Given the description of an element on the screen output the (x, y) to click on. 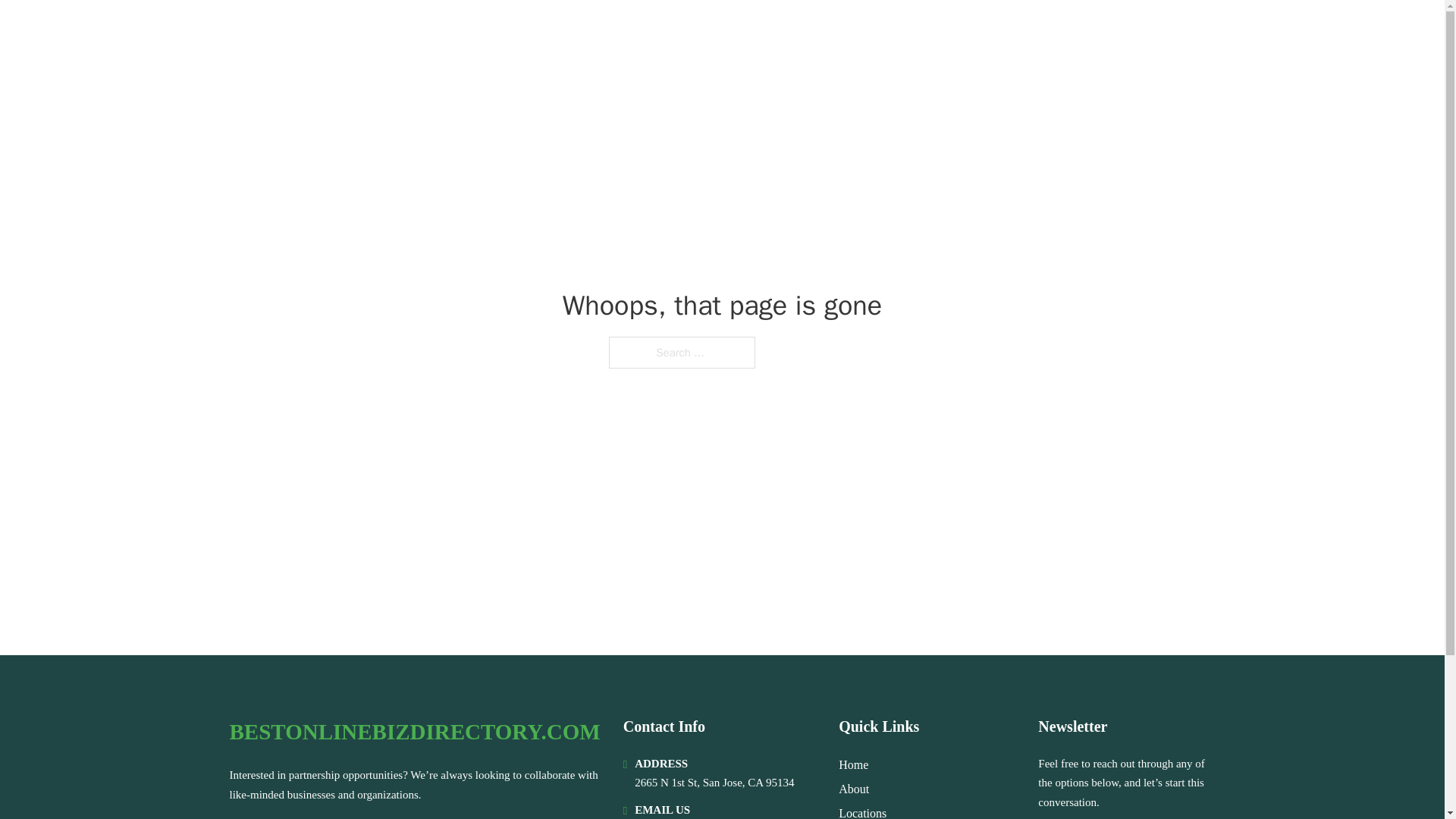
BESTONLINEBIZDIRECTORY.COM (413, 732)
Locations (862, 811)
HOME (1025, 31)
About (853, 788)
BESTONLINEBIZDIRECTORY.COM (433, 31)
Home (852, 764)
LOCATIONS (1098, 31)
